Given the description of an element on the screen output the (x, y) to click on. 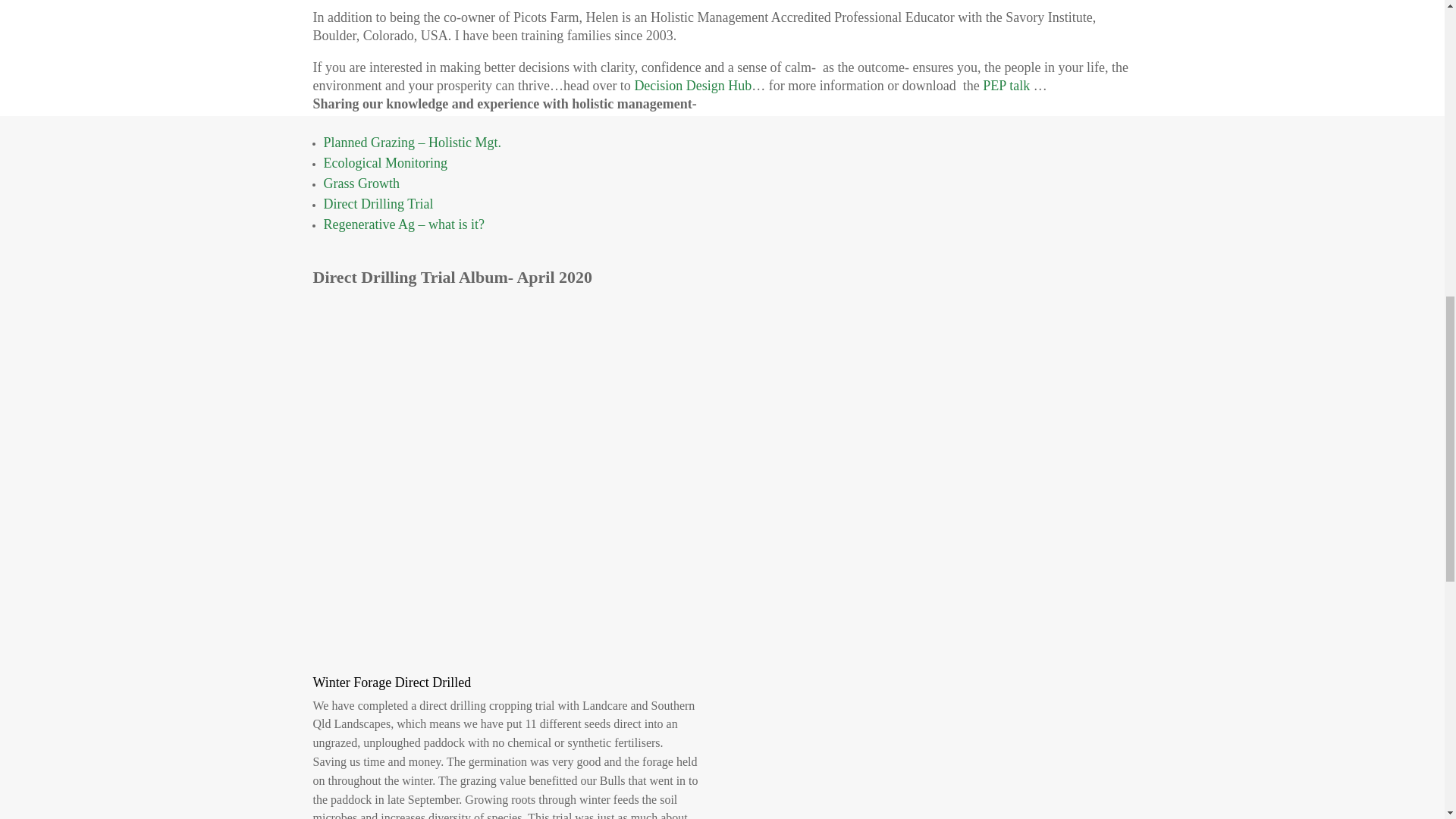
Planned Grazing (413, 142)
Decision Design Hub (692, 85)
Ecological Monitoring (384, 162)
Grass Growth (360, 183)
PEP talk (1005, 85)
Direct Drilling Trial (377, 203)
